Given the description of an element on the screen output the (x, y) to click on. 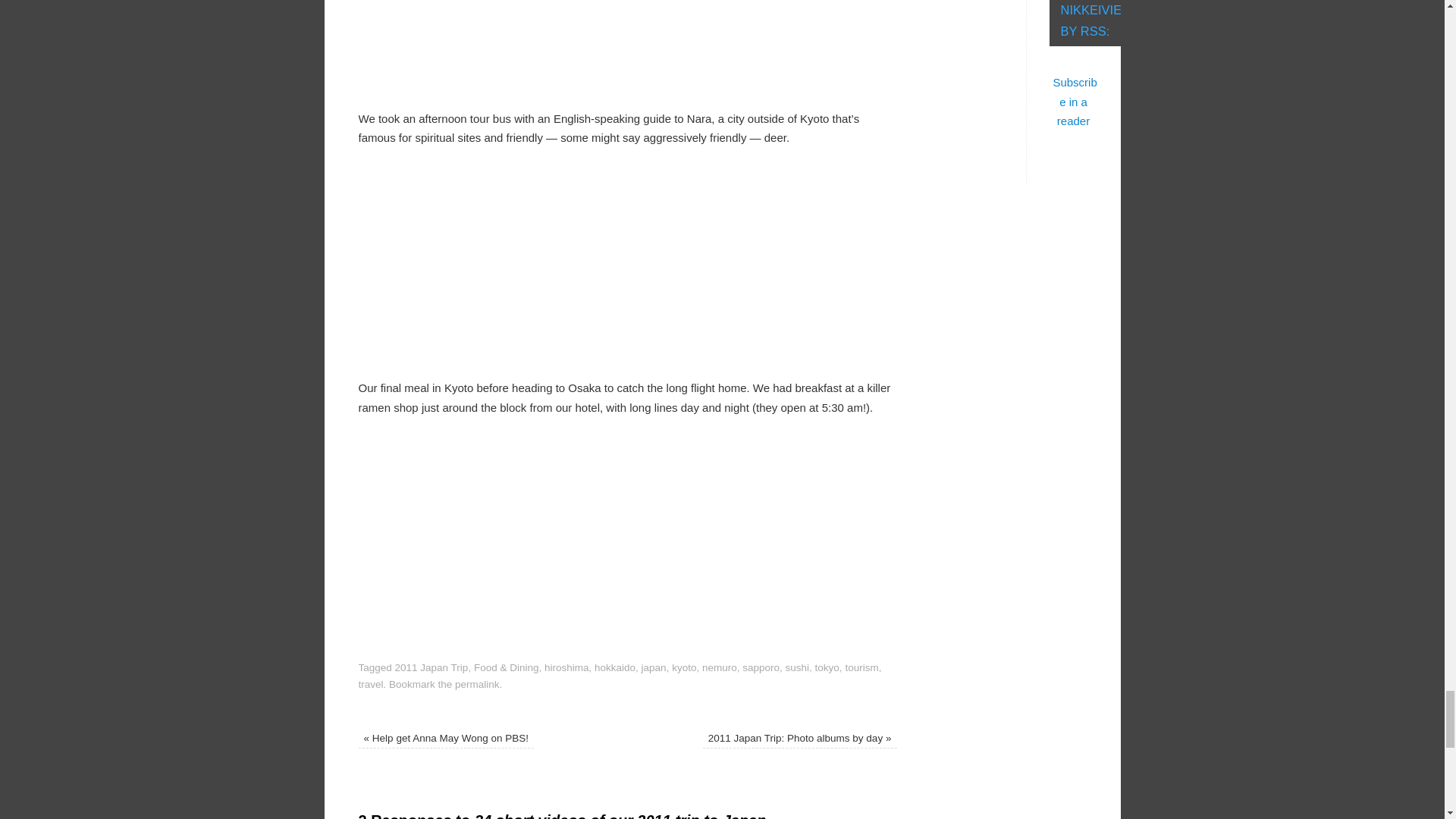
japan (654, 667)
hokkaido (614, 667)
tokyo (827, 667)
Permalink to 34 short videos of our 2011 trip to Japan (476, 684)
nemuro (718, 667)
tourism (860, 667)
travel (370, 684)
sushi (797, 667)
kyoto (683, 667)
hiroshima (566, 667)
